Given the description of an element on the screen output the (x, y) to click on. 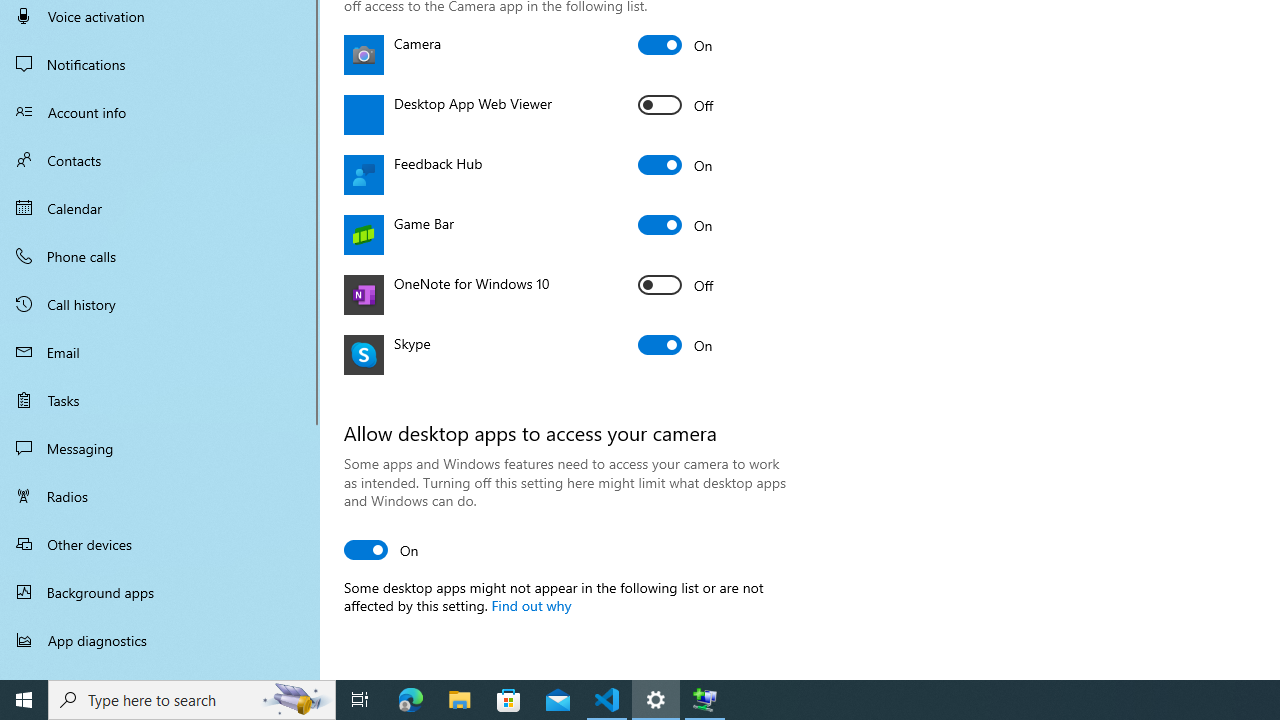
Messaging (160, 448)
Calendar (160, 207)
Background apps (160, 592)
OneNote for Windows 10 (675, 284)
App diagnostics (160, 639)
Call history (160, 304)
Notifications (160, 63)
Radios (160, 495)
Find out why (530, 605)
Skype (675, 344)
